Given the description of an element on the screen output the (x, y) to click on. 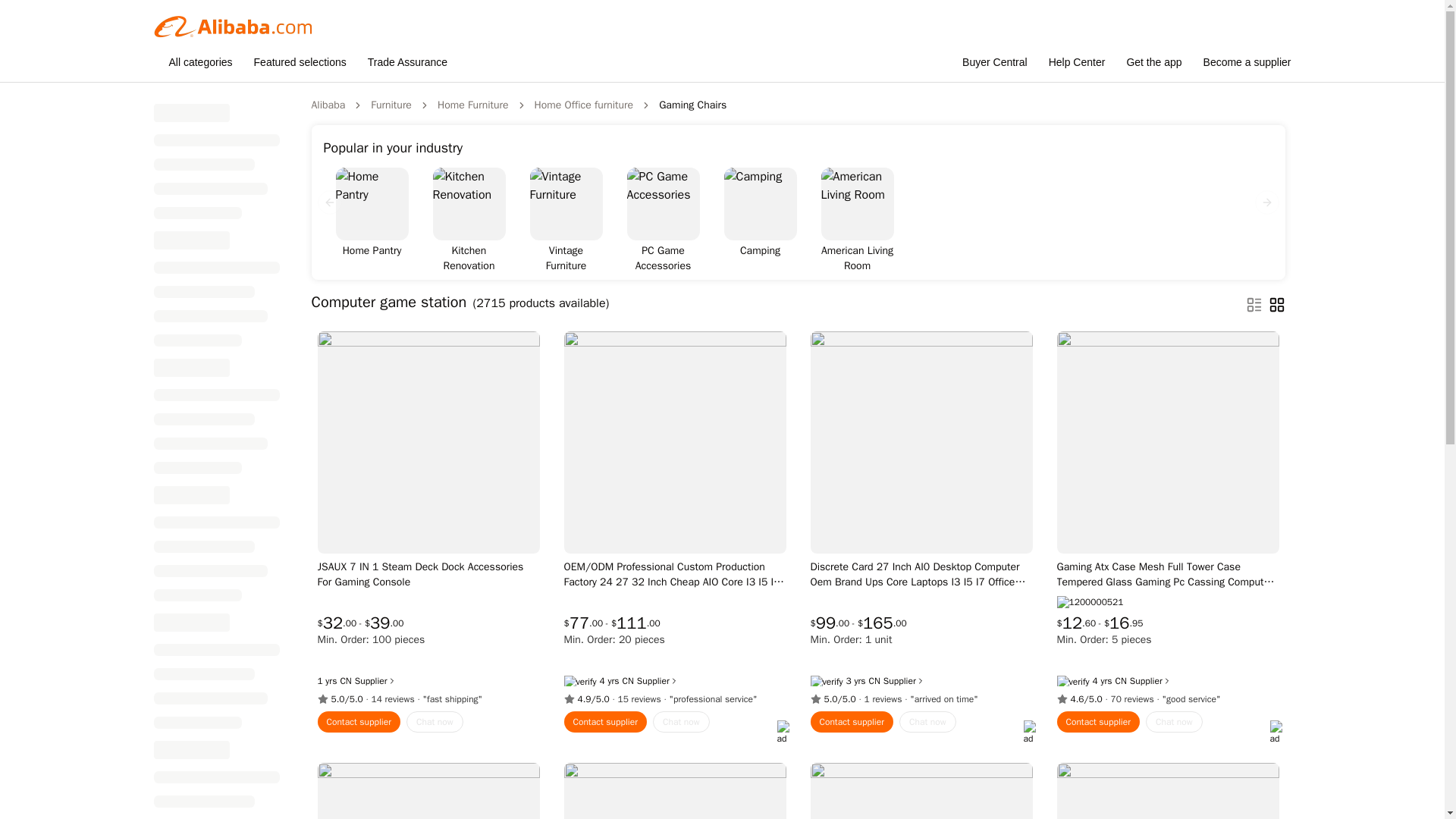
Next slide (1265, 202)
Supplier (375, 680)
Supplier (657, 680)
Home Furniture (473, 105)
Chat now (681, 721)
Deone Innovation Technology Ltd. (344, 680)
Shenzhen Tianfeng International Technology Co., Ltd. (1120, 680)
Alibaba (328, 105)
Contact supplier (851, 721)
Contact supplier (605, 721)
Contact supplier (358, 721)
Furniture (391, 105)
Home Office furniture (583, 105)
JSAUX 7 IN 1 Steam Deck Dock Accessories For Gaming Console (427, 574)
